Given the description of an element on the screen output the (x, y) to click on. 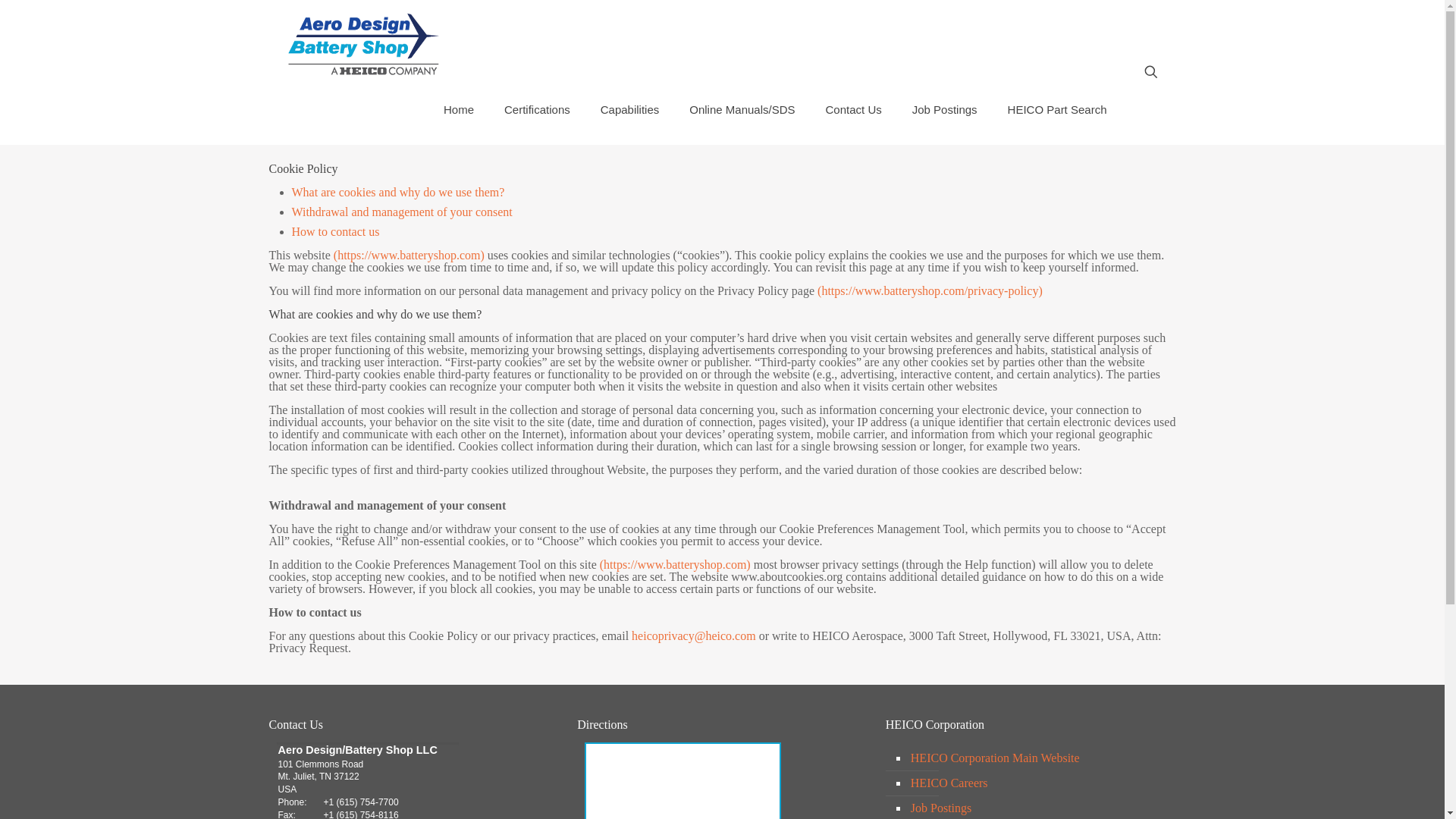
Capabilities (630, 110)
HEICO Part Search (1057, 110)
batteryshop.com Website (675, 563)
What are cookies and why do we use them? (397, 192)
HEICO Corporation (1038, 758)
Job Postings (1038, 807)
HEICO Careers (1038, 783)
batteryshop.com website (408, 254)
Certifications (537, 110)
HEICO Privacy Policy (929, 290)
